Given the description of an element on the screen output the (x, y) to click on. 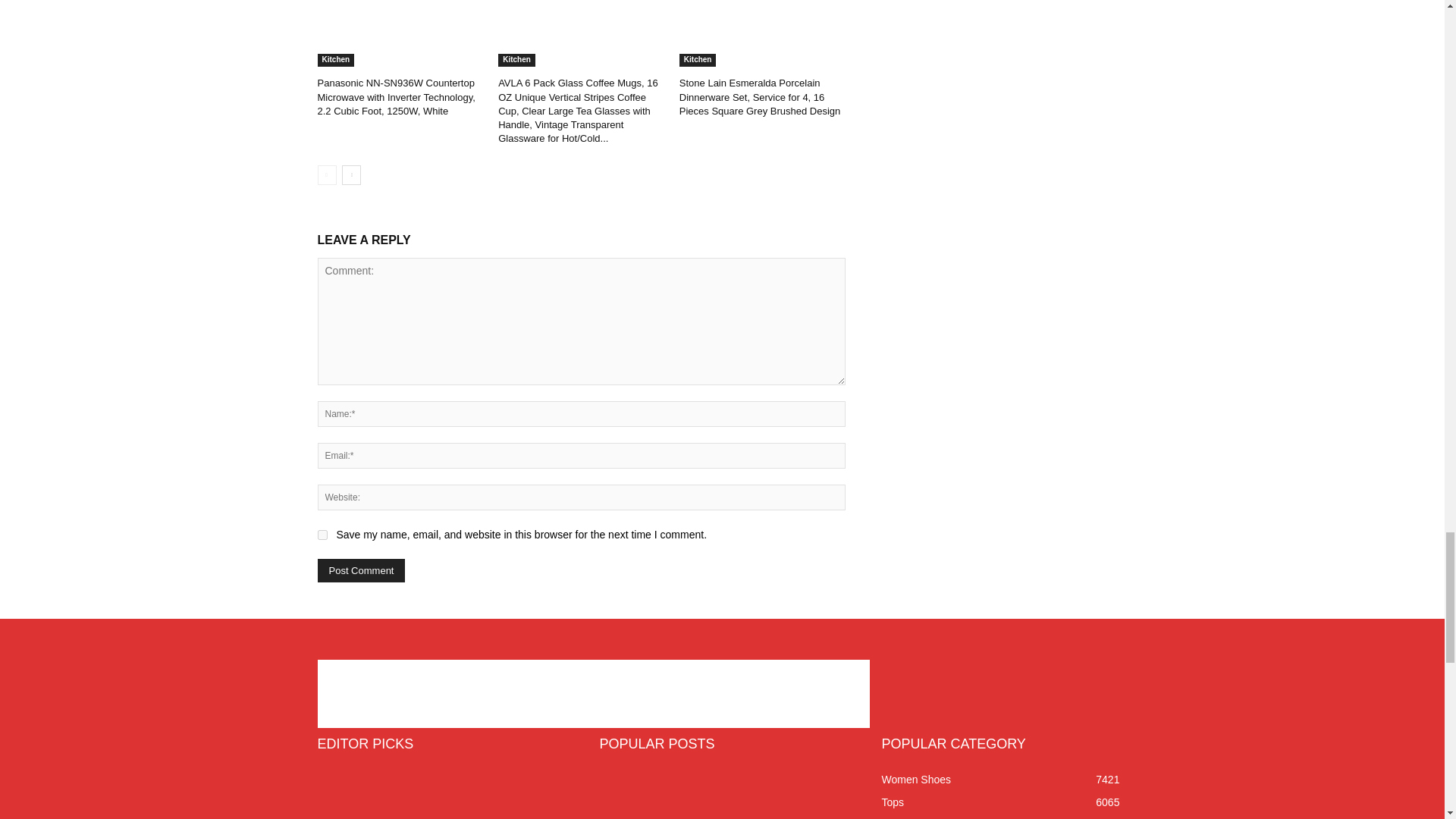
Post Comment (360, 570)
yes (321, 534)
